Given the description of an element on the screen output the (x, y) to click on. 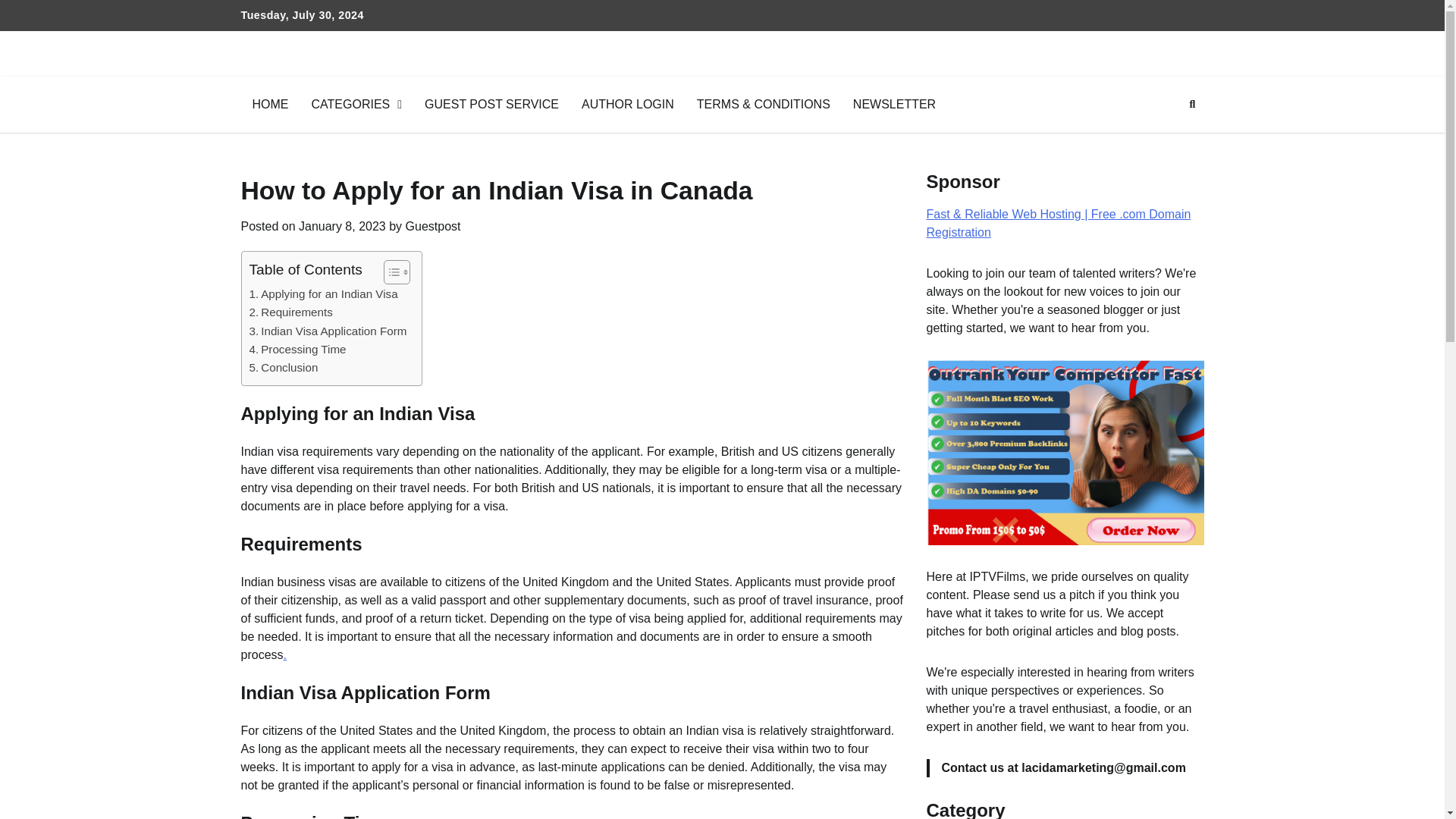
Processing Time (297, 349)
Search (1192, 104)
Requirements (289, 312)
GUEST POST SERVICE (491, 104)
Indian Visa Application Form (327, 331)
CATEGORIES (356, 104)
NEWSLETTER (894, 104)
Conclusion (282, 367)
Conclusion (282, 367)
AUTHOR LOGIN (627, 104)
Applying for an Indian Visa (322, 294)
Applying for an Indian Visa (322, 294)
Requirements (289, 312)
HOME (270, 104)
Processing Time (297, 349)
